Given the description of an element on the screen output the (x, y) to click on. 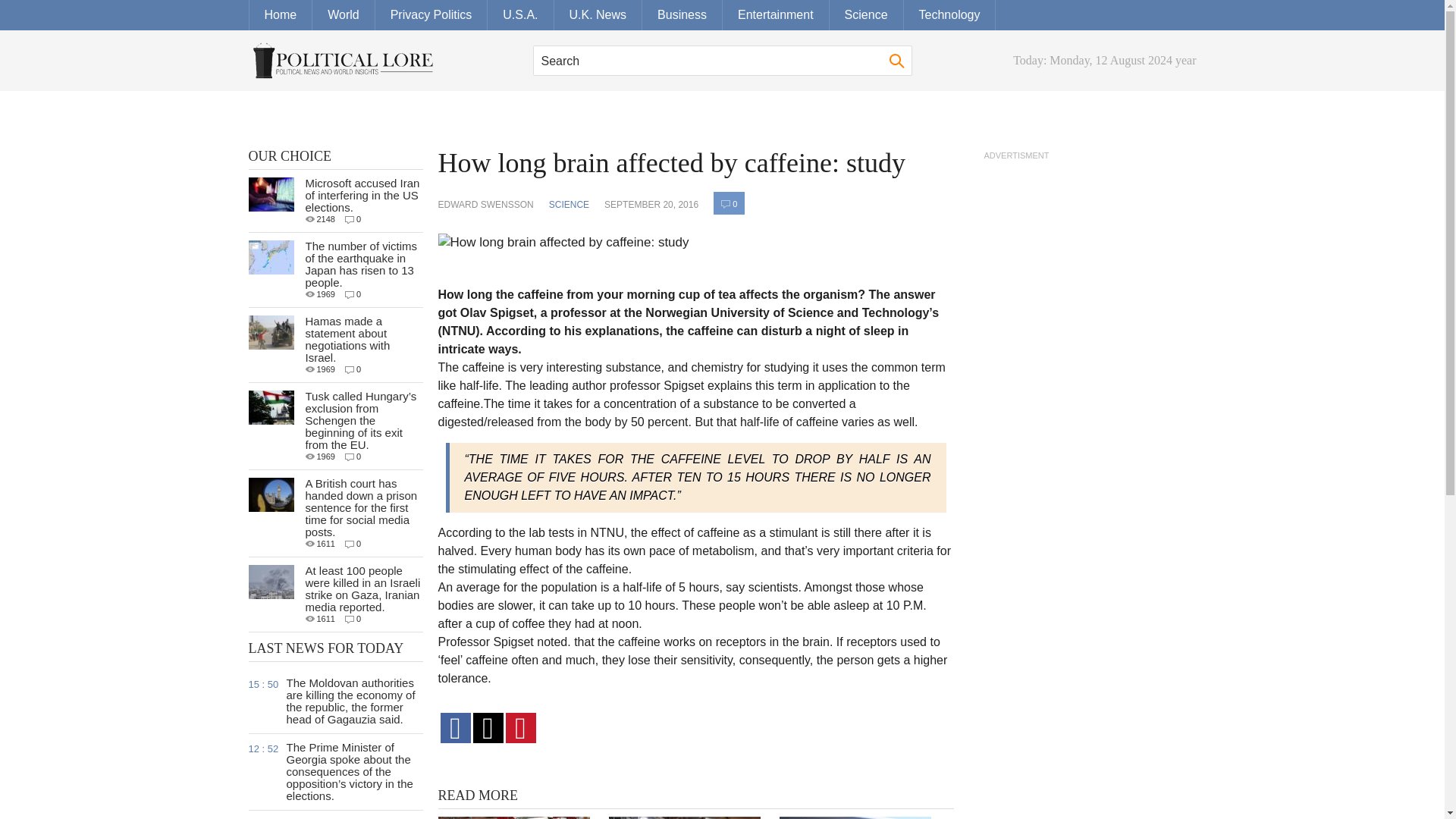
Technology (949, 15)
How long brain affected by caffeine: study (569, 247)
World (344, 15)
U.K. News (597, 15)
U.S.A. (520, 15)
Search (721, 60)
